Given the description of an element on the screen output the (x, y) to click on. 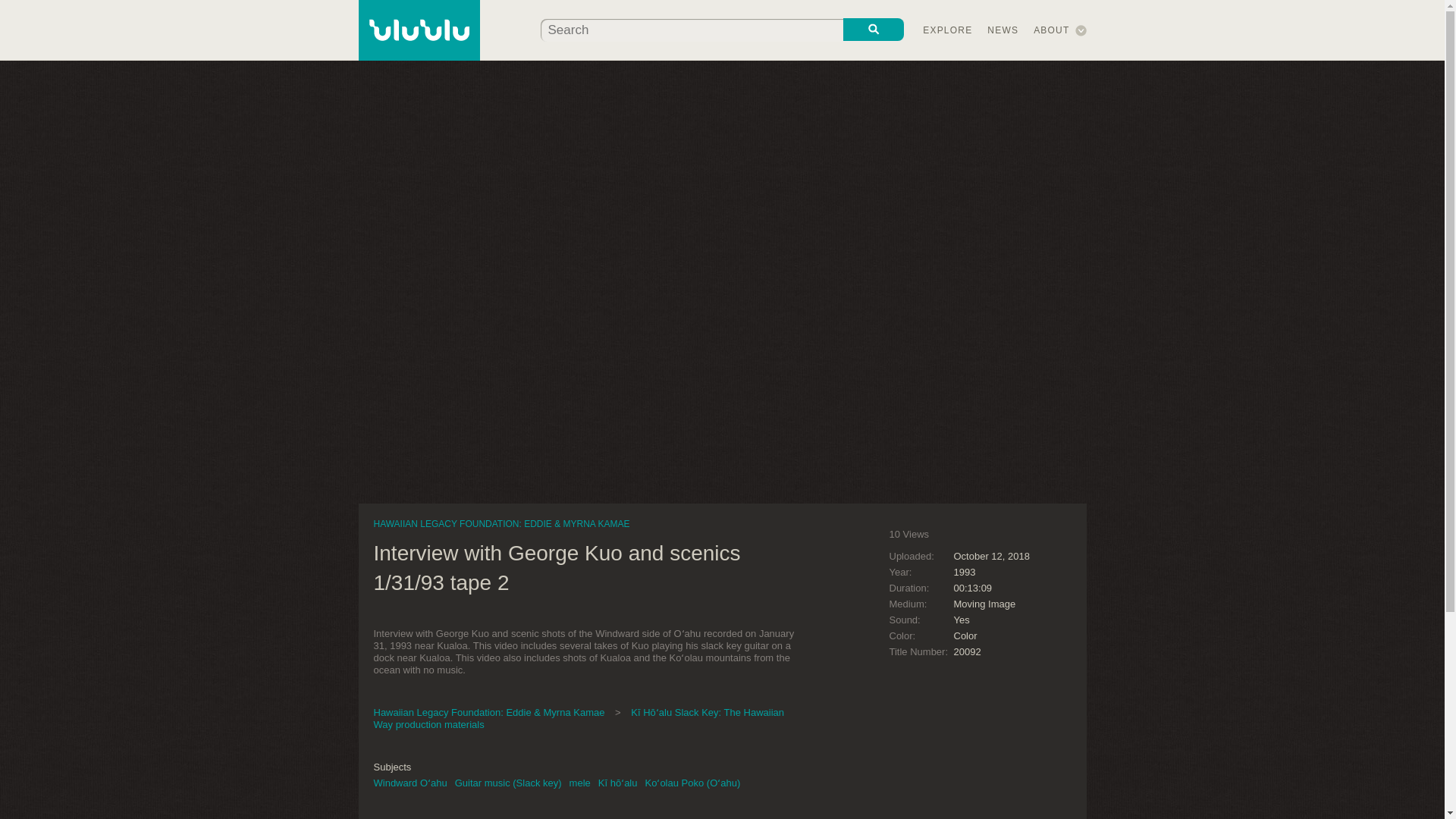
Recent archive news (1002, 30)
Browse our collections (947, 30)
submit (873, 29)
NEWS (1002, 30)
mele (580, 782)
EXPLORE (947, 30)
Learn more about the archive (1050, 30)
ABOUT (1050, 30)
submit (873, 29)
